Given the description of an element on the screen output the (x, y) to click on. 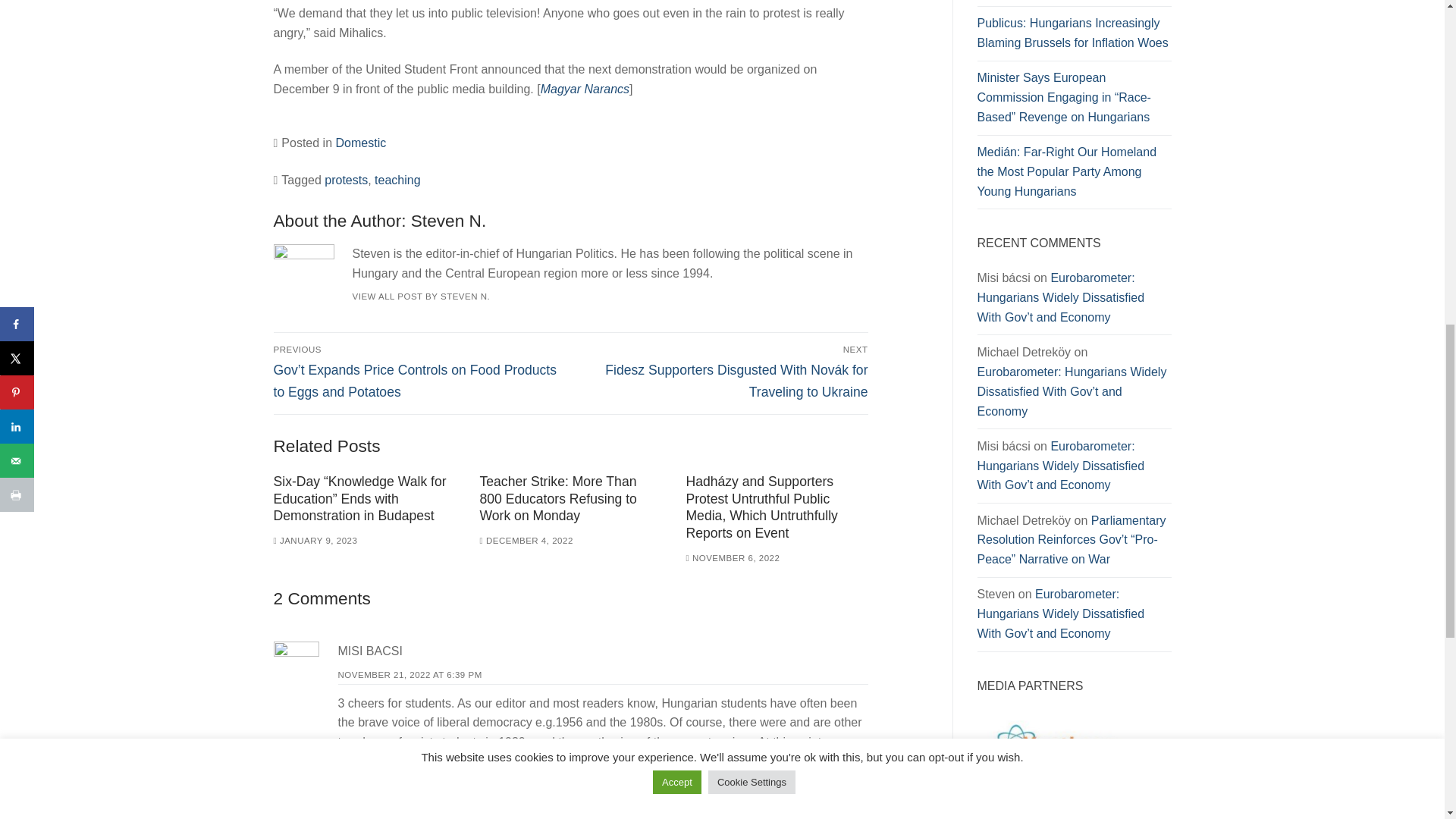
Domestic (359, 142)
JANUARY 9, 2023 (314, 540)
VIEW ALL POST BY STEVEN N. (420, 296)
Magyar Narancs (584, 88)
DECEMBER 4, 2022 (525, 540)
NOVEMBER 6, 2022 (731, 557)
teaching (397, 179)
protests (346, 179)
